Given the description of an element on the screen output the (x, y) to click on. 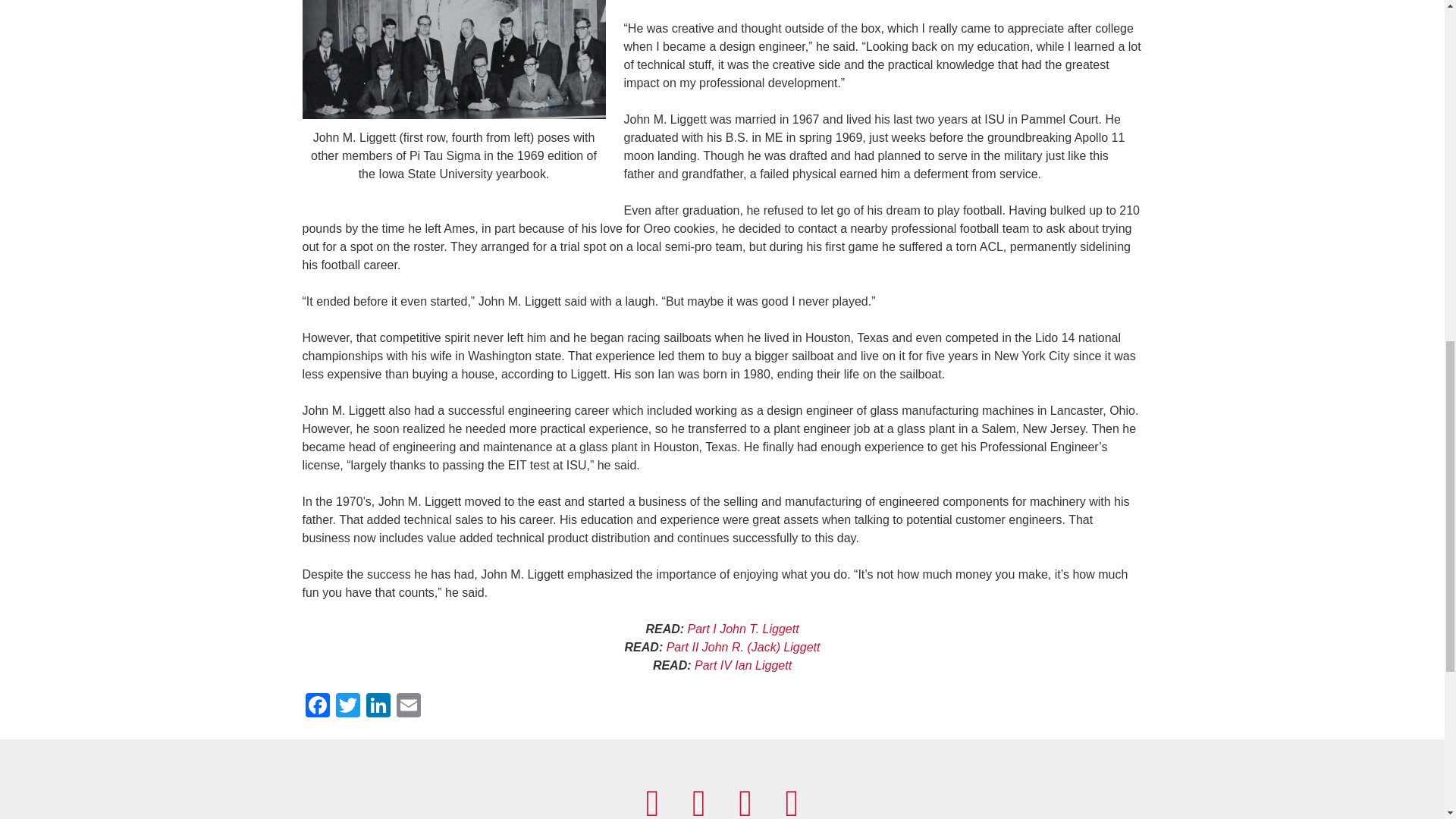
Twitter (346, 706)
YouTube (698, 801)
MyState (791, 801)
Instagram (745, 801)
Facebook (316, 706)
Email (408, 706)
LinkedIn (377, 706)
Facebook (651, 801)
